Given the description of an element on the screen output the (x, y) to click on. 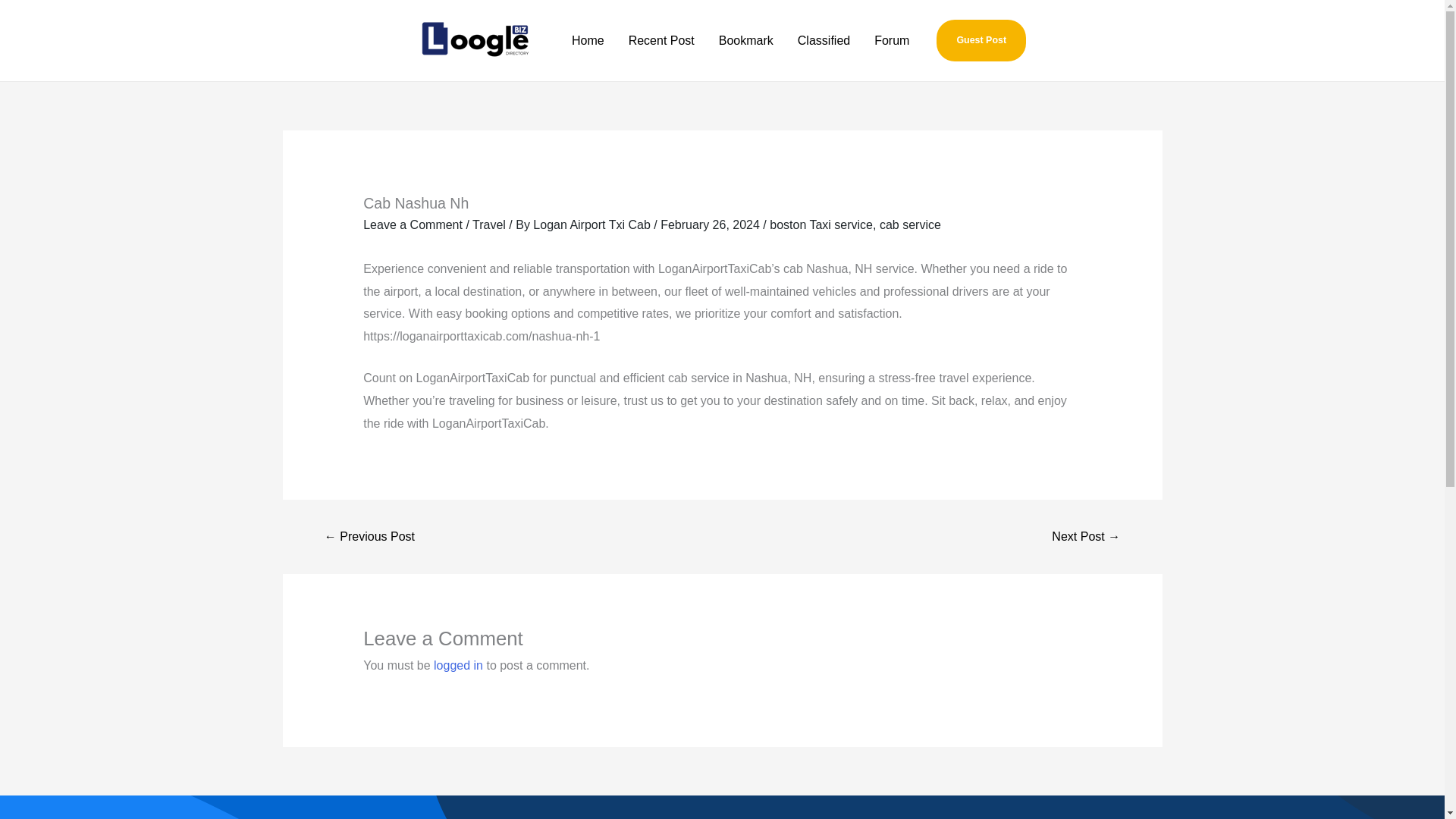
Guest Post (981, 40)
Forum (891, 39)
Home (587, 39)
View all posts by Logan Airport Txi Cab (592, 224)
Leave a Comment (412, 224)
Logan Airport Txi Cab (592, 224)
cab service (909, 224)
Advertisement (721, 807)
Classified (823, 39)
Bookmark (746, 39)
